Given the description of an element on the screen output the (x, y) to click on. 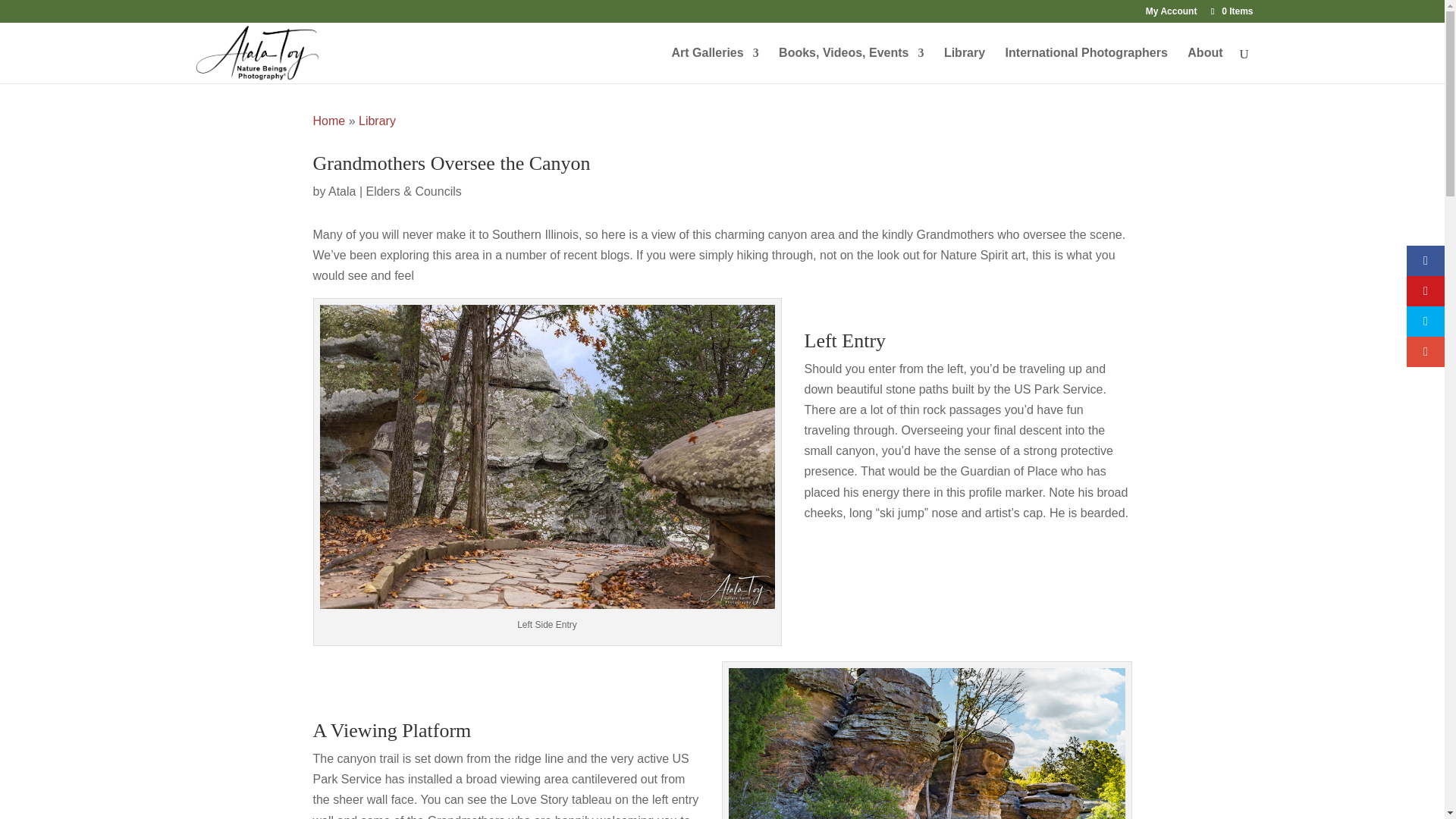
Posts by Atala (342, 191)
My Account (1170, 14)
0 Items (1230, 10)
Art Galleries (714, 65)
